Given the description of an element on the screen output the (x, y) to click on. 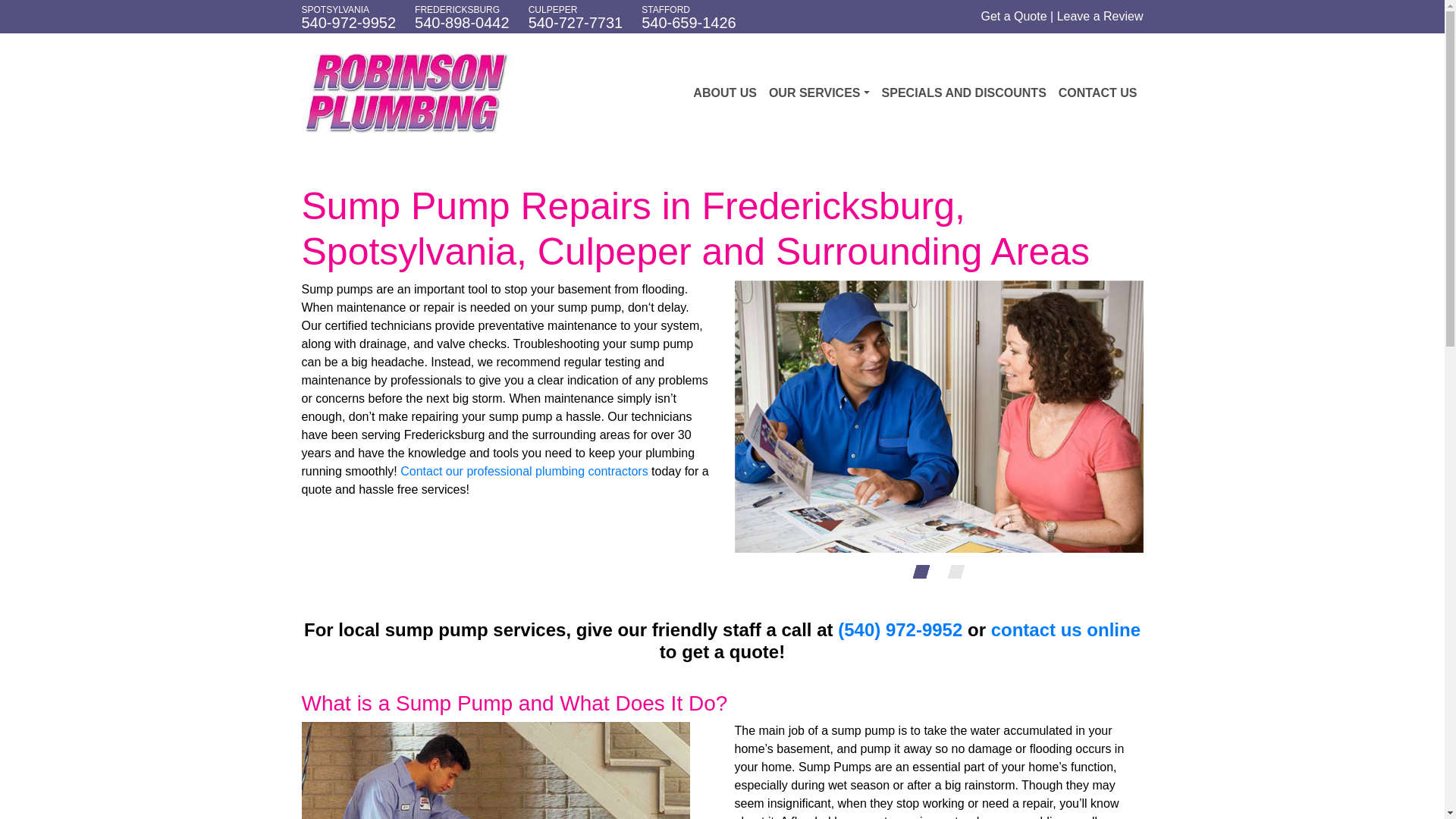
Contact Us (1065, 629)
Get a Quote (1012, 15)
About Us (724, 92)
540-659-1426 (689, 22)
Contact our professional plumbing contractors (523, 471)
Our Services (819, 92)
ABOUT US (724, 92)
Leave a Review (1099, 15)
CONTACT US (1097, 92)
540-972-9952 (348, 22)
Contact Us (1097, 92)
Specials and Discounts (964, 92)
Contact Us (523, 471)
540-727-7731 (575, 22)
540-898-0442 (461, 22)
